Given the description of an element on the screen output the (x, y) to click on. 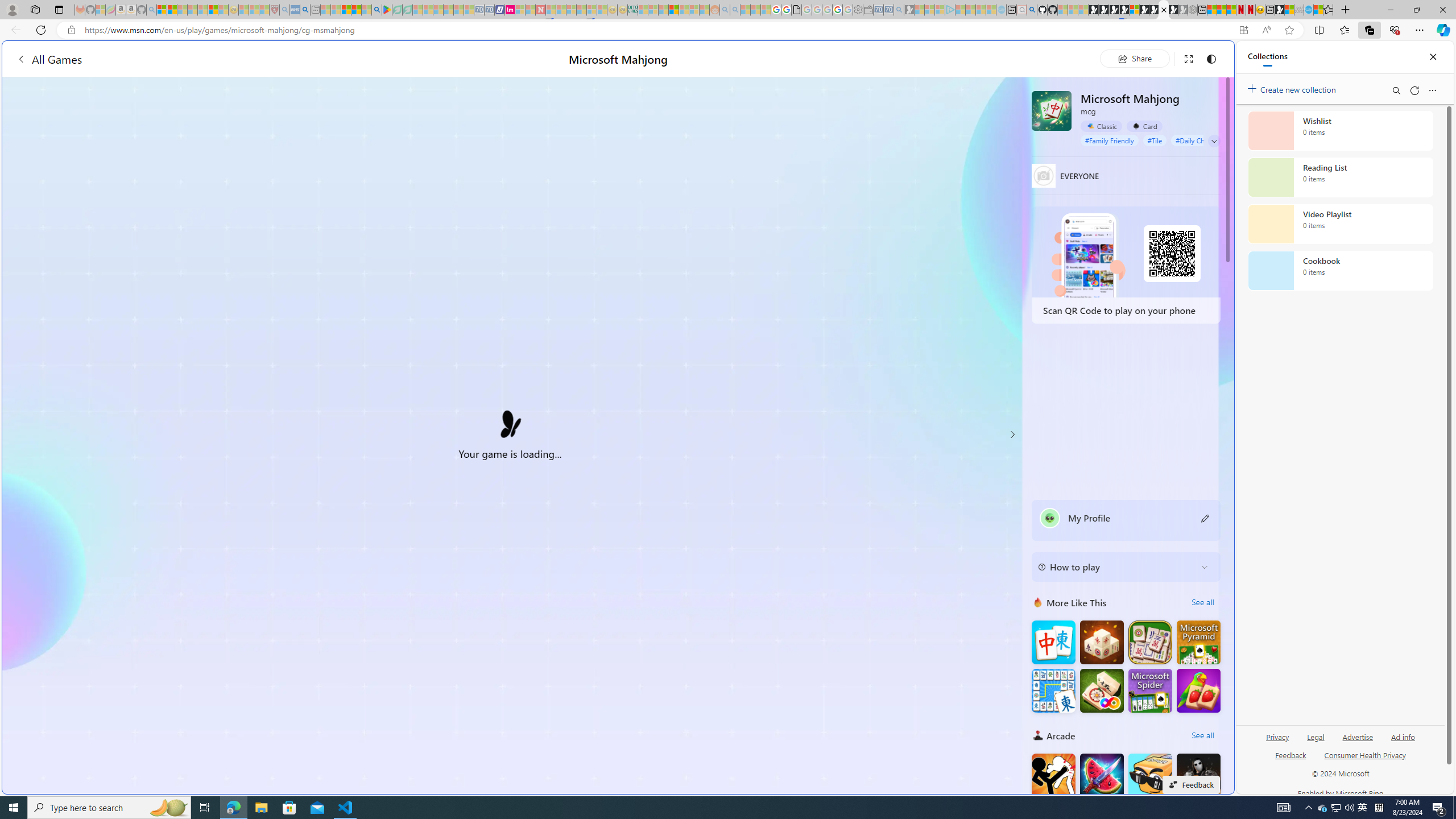
Stickman Fighter : Mega Brawl (1053, 775)
